Given the description of an element on the screen output the (x, y) to click on. 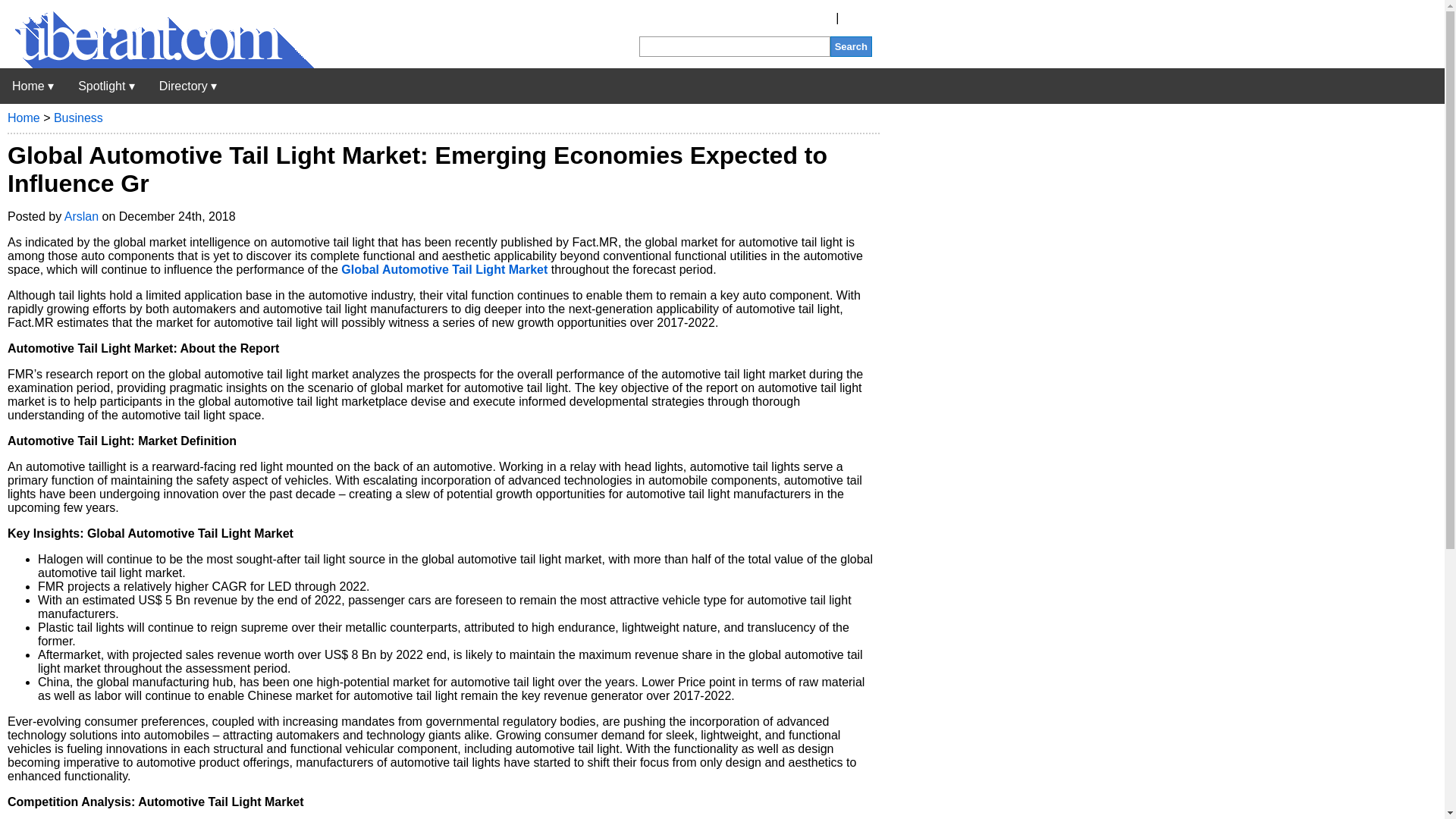
Uberant (157, 63)
Register (809, 17)
Uberant (32, 85)
Login (857, 17)
Search (850, 46)
Search (850, 46)
